Given the description of an element on the screen output the (x, y) to click on. 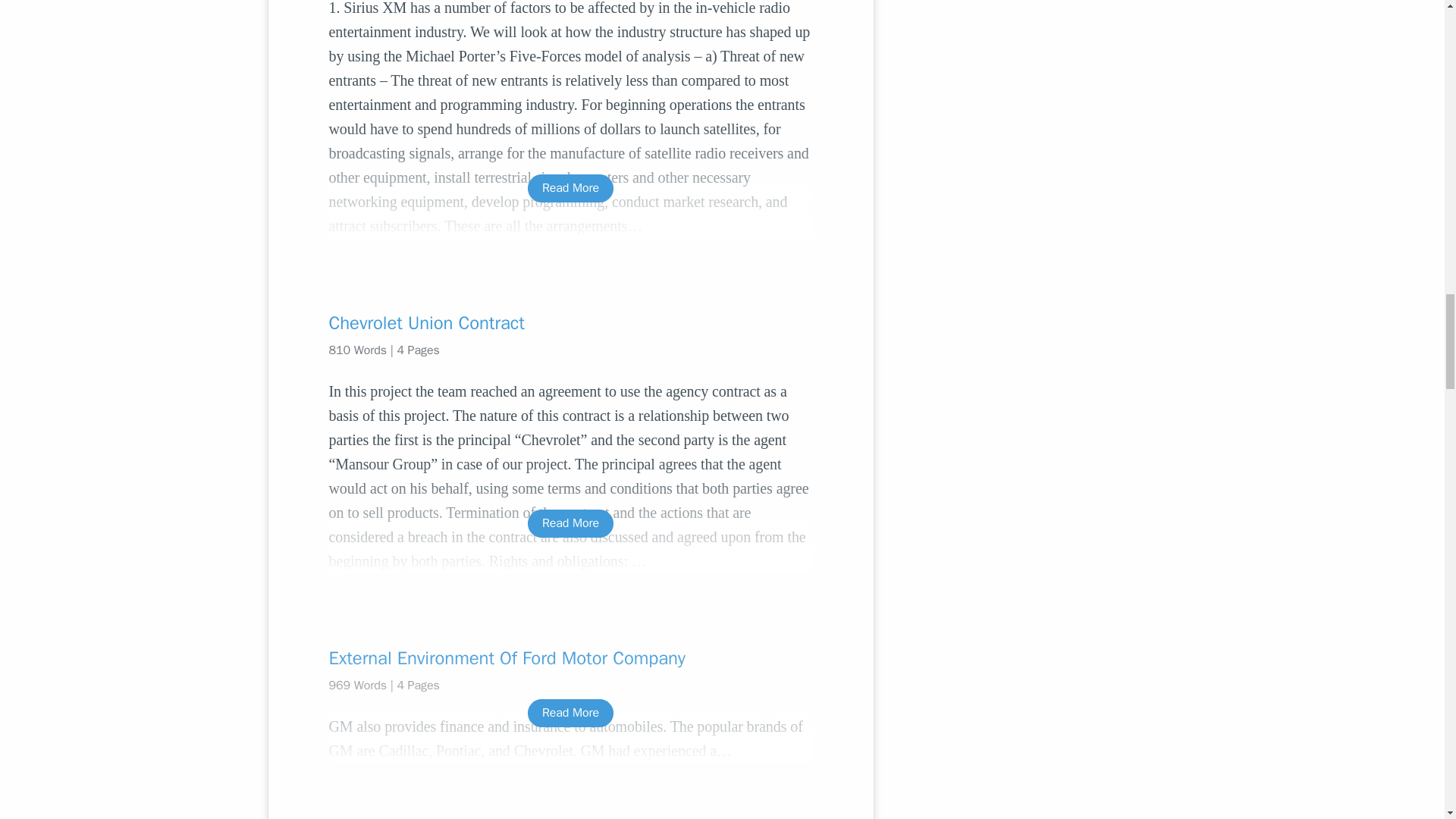
Read More (569, 713)
Chevrolet Union Contract (570, 322)
Read More (569, 523)
Read More (569, 188)
External Environment Of Ford Motor Company (570, 658)
